Given the description of an element on the screen output the (x, y) to click on. 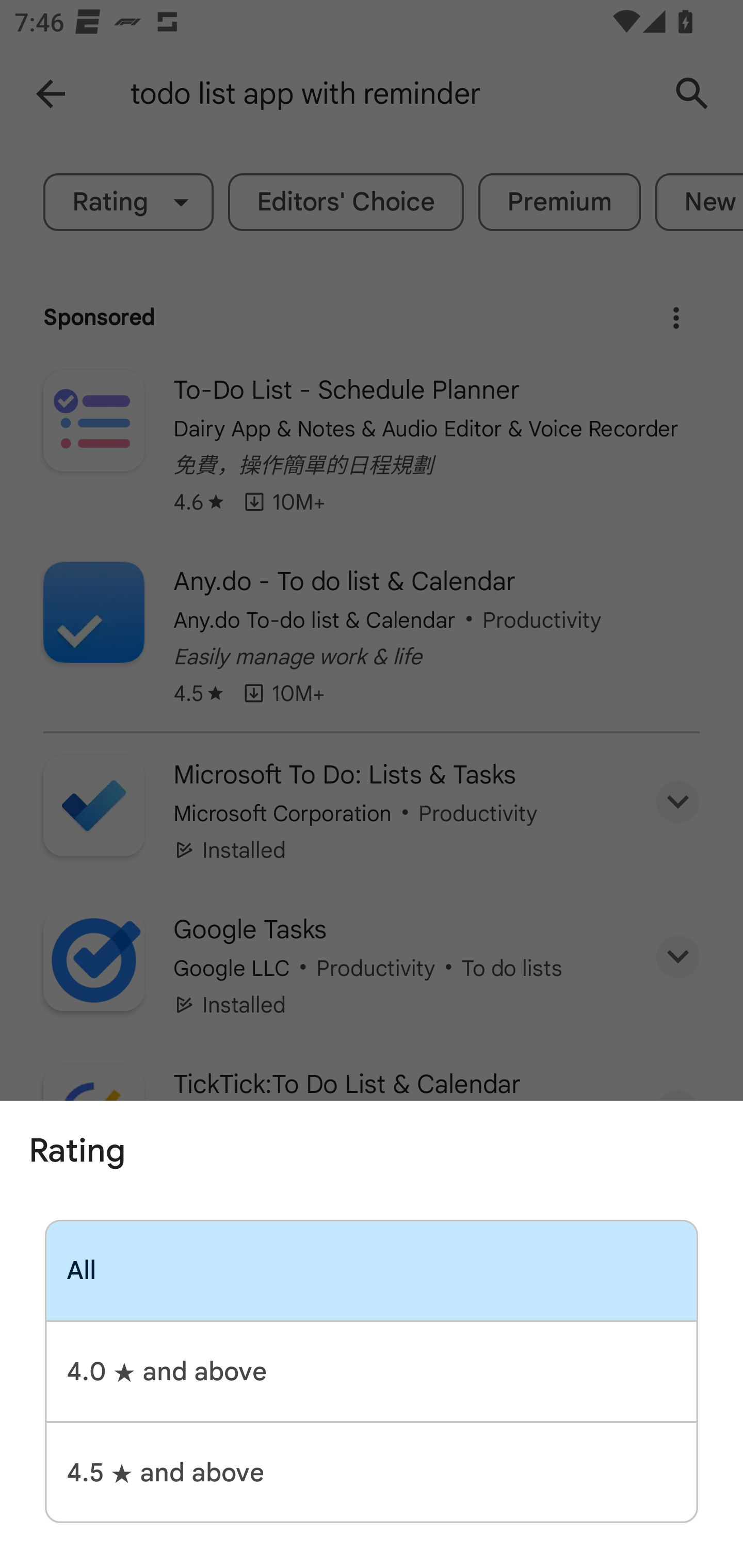
All Selected All (371, 1269)
4.0 ★ and above (371, 1371)
4.5 ★ and above (371, 1472)
